Given the description of an element on the screen output the (x, y) to click on. 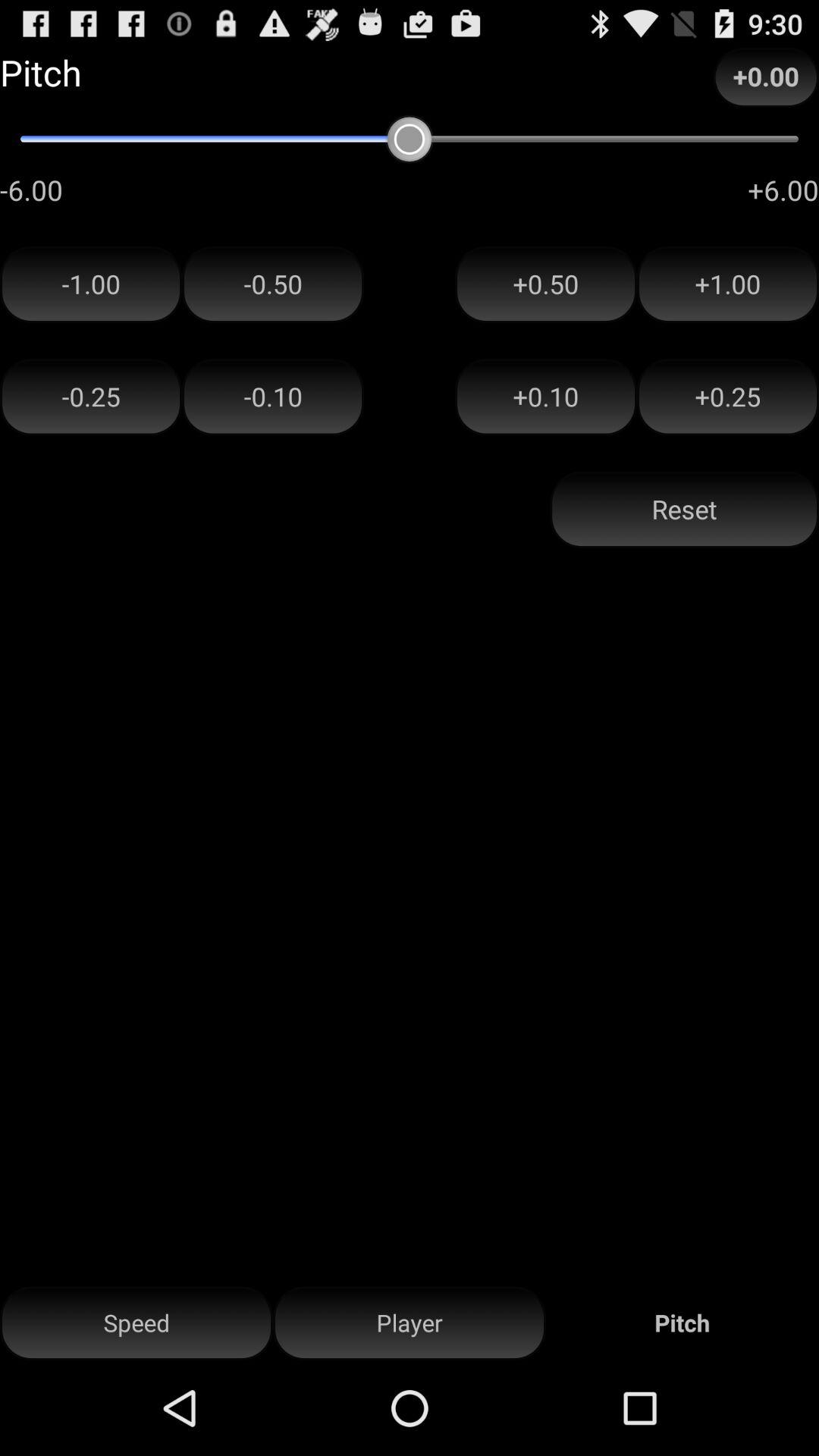
tap button below the reset button (409, 1323)
